Given the description of an element on the screen output the (x, y) to click on. 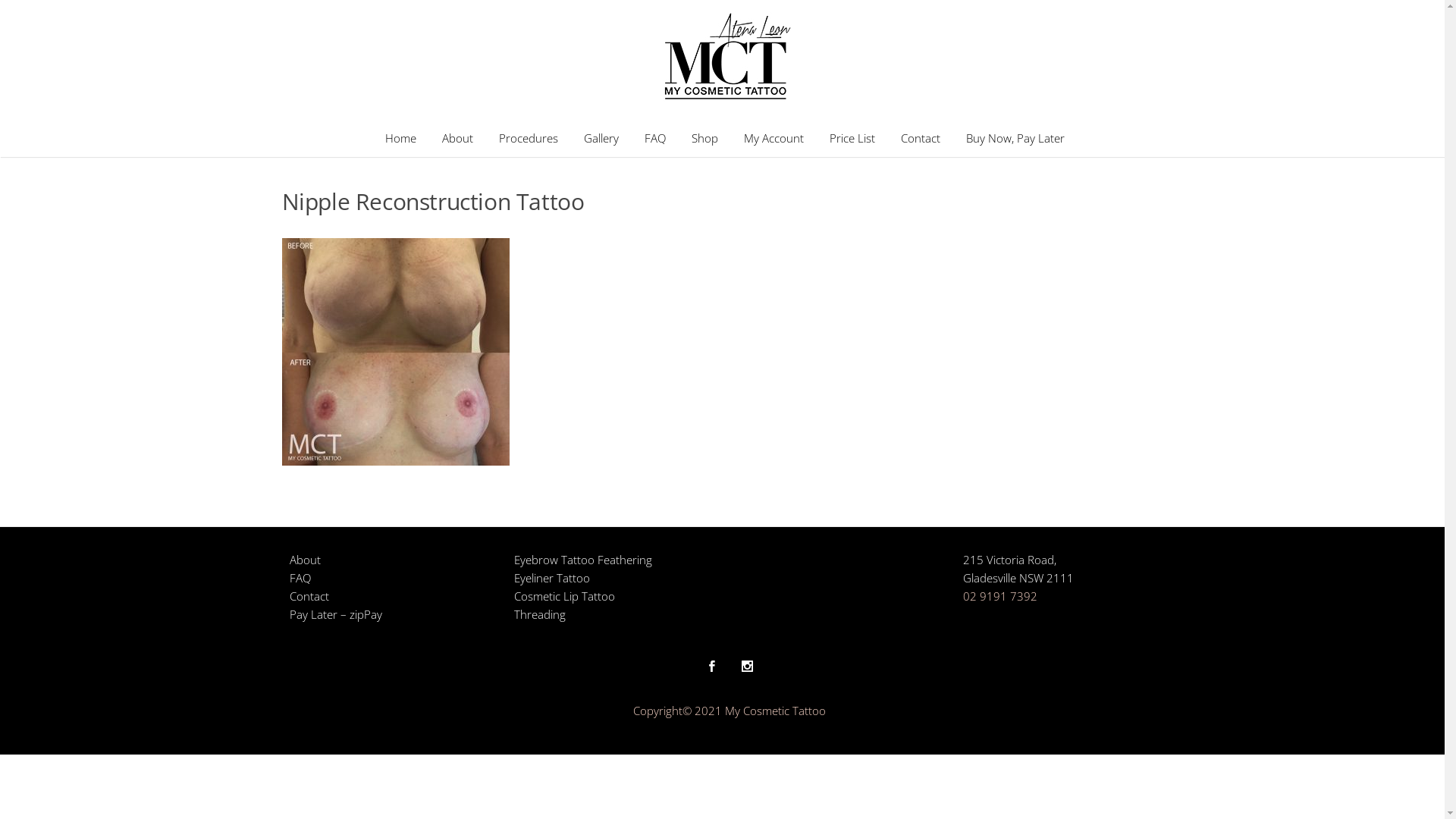
Cosmetic Lip Tattoo Element type: text (564, 595)
Contact Element type: text (309, 595)
Eyeliner Tattoo Element type: text (551, 577)
About Element type: text (304, 559)
FAQ Element type: text (655, 137)
Procedures Element type: text (528, 137)
My Account Element type: text (773, 137)
Price List Element type: text (852, 137)
Home Element type: text (400, 137)
Contact Element type: text (920, 137)
Eyebrow Tattoo Feathering Element type: text (583, 559)
My Cosmetic Tattoo Element type: hover (724, 59)
Facebook Element type: hover (711, 664)
Buy Now, Pay Later Element type: text (1015, 137)
Threading Element type: text (539, 613)
About Element type: text (457, 137)
FAQ Element type: text (299, 577)
Shop Element type: text (704, 137)
Instagram Element type: hover (747, 664)
215 Victoria Road,
Gladesville NSW 2111 Element type: text (1018, 568)
Gallery Element type: text (601, 137)
